Given the description of an element on the screen output the (x, y) to click on. 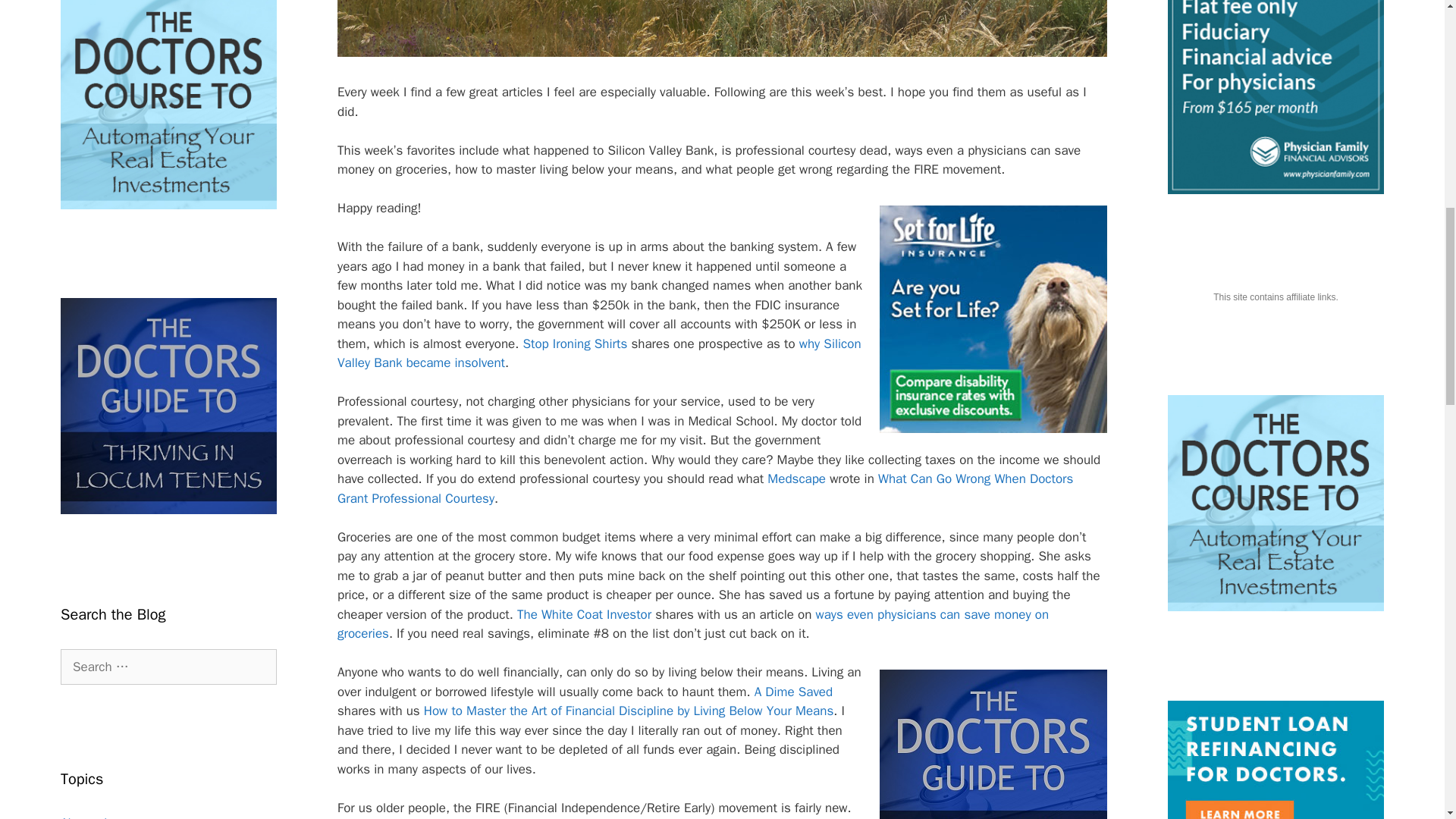
Search for: (168, 667)
